Given the description of an element on the screen output the (x, y) to click on. 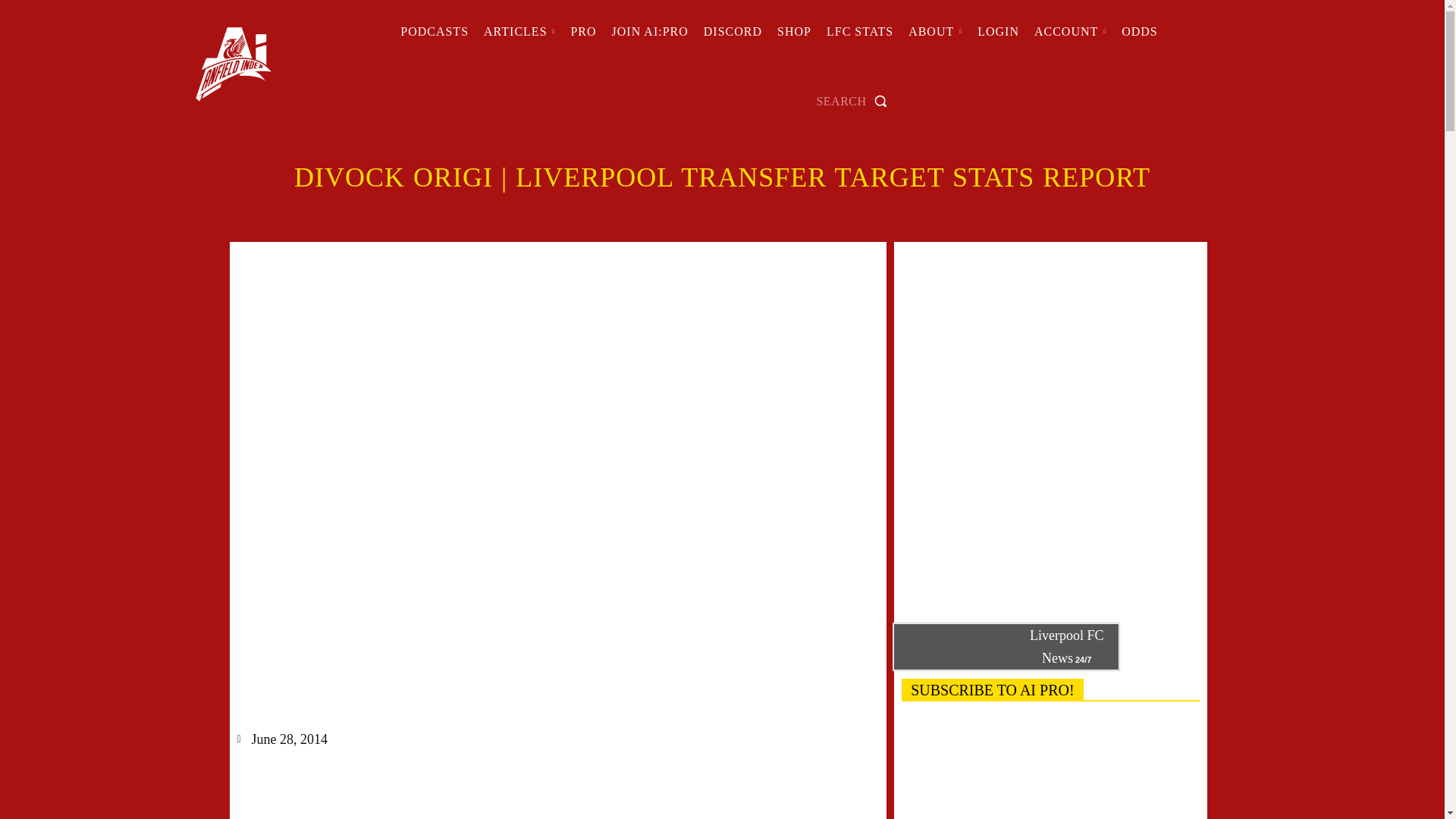
PODCASTS (434, 31)
Check out Empire Of The Kop! (732, 31)
Click here for more Liverpool FC news from NewsNow (1005, 646)
SHOP (794, 31)
ARTICLES (519, 31)
DISCORD (732, 31)
PRO (583, 31)
ABOUT (935, 31)
LFC STATS (859, 31)
JOIN AI:PRO (649, 31)
